Given the description of an element on the screen output the (x, y) to click on. 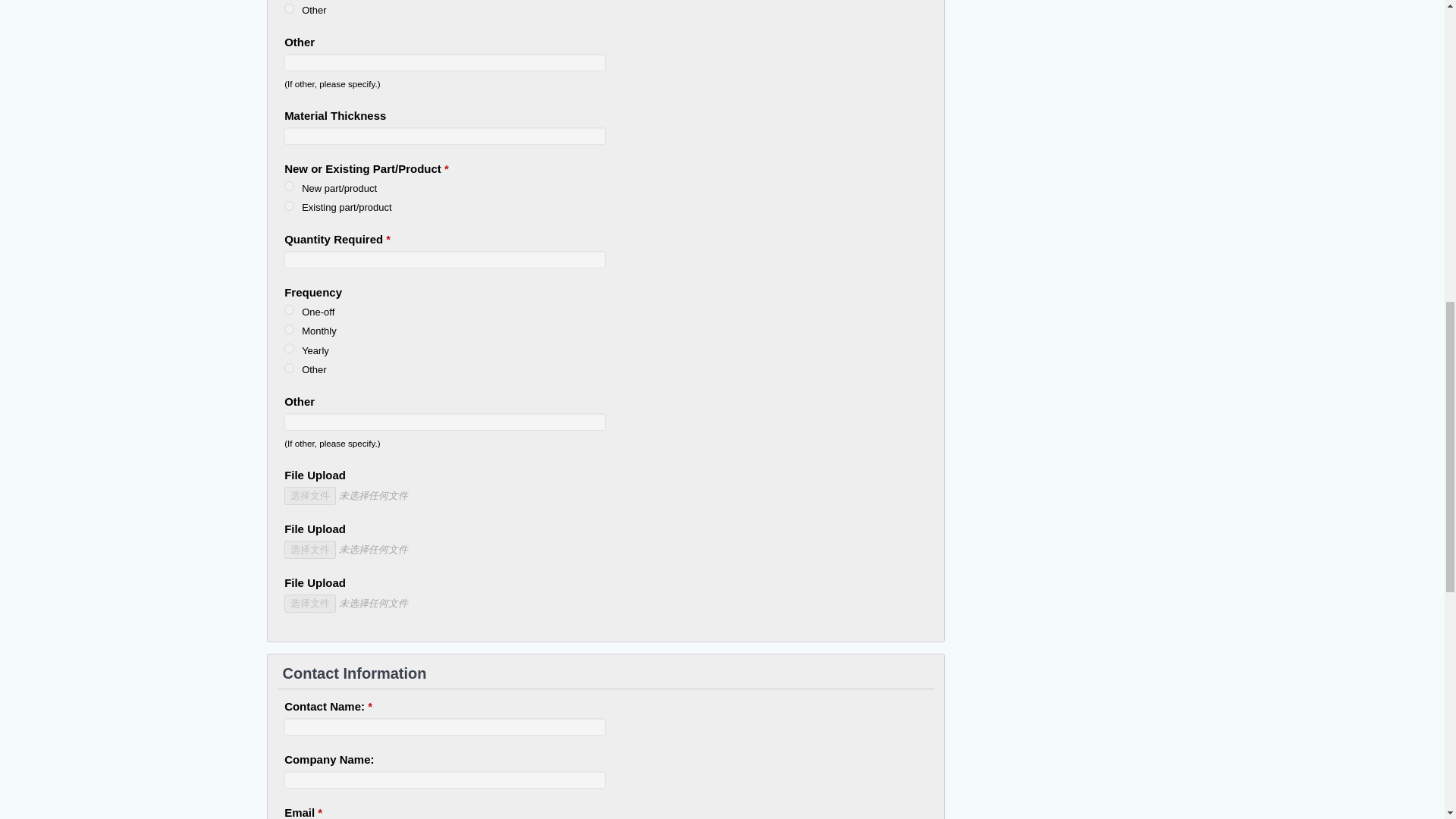
One-off (288, 309)
Other (288, 368)
Yearly (288, 347)
Other (288, 8)
Monthly (288, 329)
